Given the description of an element on the screen output the (x, y) to click on. 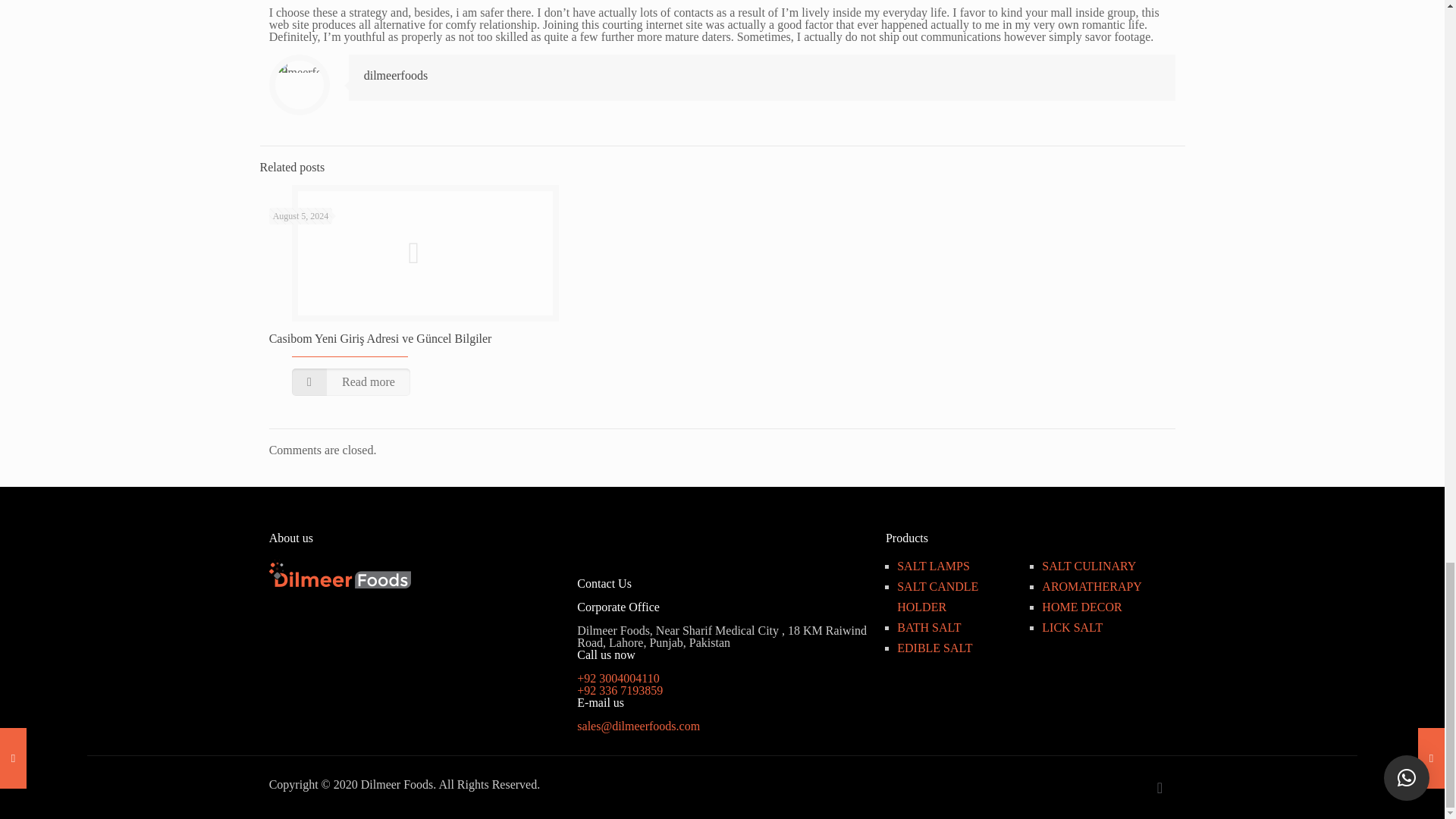
dilmeerfoods (396, 74)
